Given the description of an element on the screen output the (x, y) to click on. 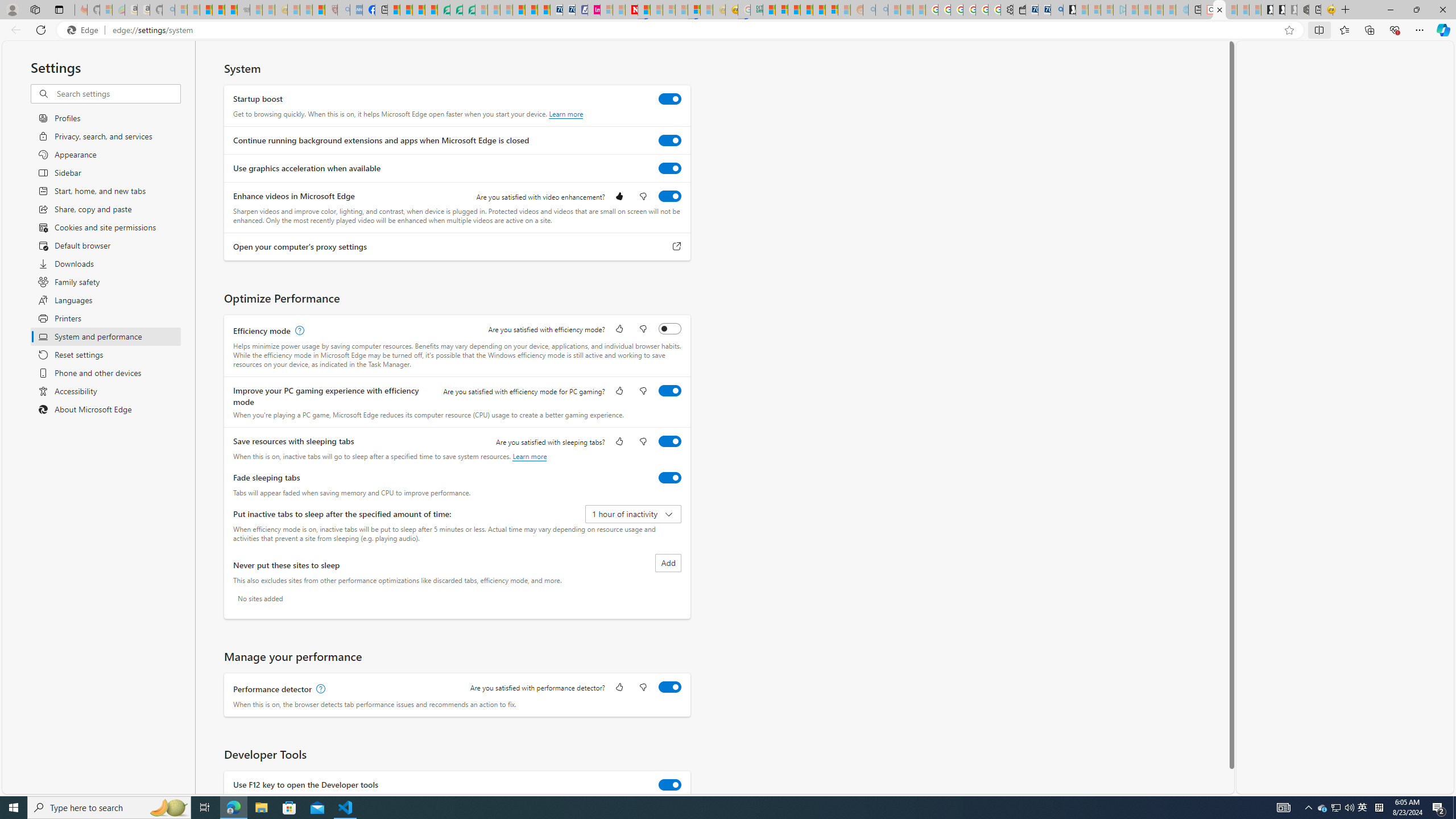
Search settings (117, 93)
Play Free Online Games | Games from Microsoft Start (1267, 9)
Improve your PC gaming experience with efficiency mode (669, 390)
Microsoft account | Privacy - Sleeping (1107, 9)
New Report Confirms 2023 Was Record Hot | Watch (230, 9)
Bing Real Estate - Home sales and rental listings (1056, 9)
Cheap Car Rentals - Save70.com (1044, 9)
Settings (1219, 9)
Like (619, 687)
Efficiency mode, learn more (298, 330)
Recipes - MSN - Sleeping (293, 9)
